Given the description of an element on the screen output the (x, y) to click on. 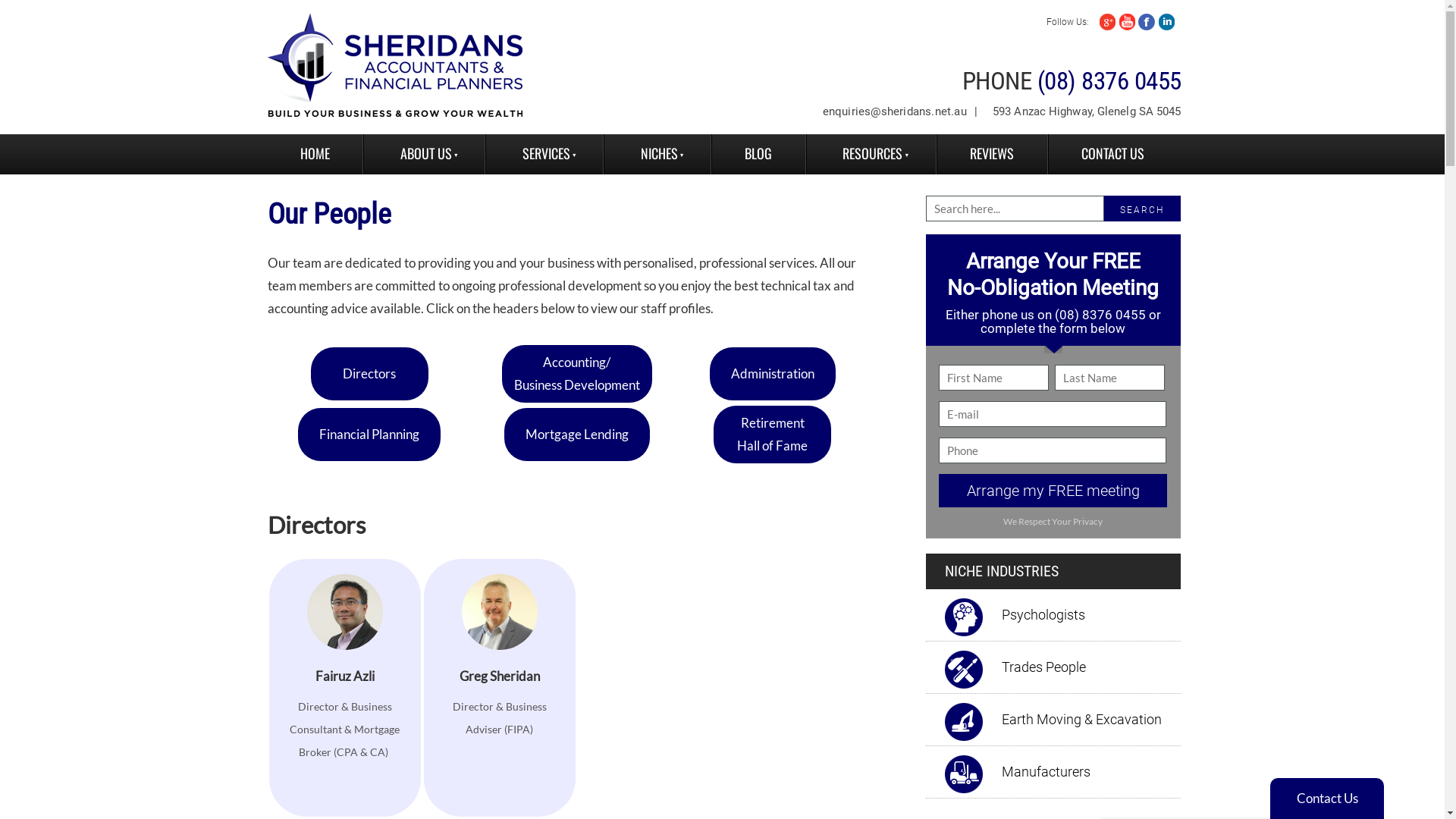
ABOUT US Element type: text (424, 154)
Directors Element type: text (369, 373)
Financial Planning Element type: text (369, 434)
enquiries@sheridans.net.au Element type: text (894, 111)
NICHES Element type: text (657, 154)
Accounting/ Business Development Element type: text (577, 373)
Greg Sheridan
Director & Business Adviser (FIPA) Element type: text (498, 687)
We Respect Your Privacy Element type: text (1052, 521)
SERVICES Element type: text (544, 154)
Arrange my FREE meeting Element type: text (1052, 490)
HOME Element type: text (314, 154)
Retirement Hall of Fame Element type: text (772, 434)
CONTACT US Element type: text (1112, 154)
Earth Moving & Excavation Element type: text (1084, 719)
Manufacturers Element type: text (1049, 771)
Psychologists Element type: text (1046, 614)
RESOURCES Element type: text (870, 154)
SEARCH Element type: text (1141, 212)
REVIEWS Element type: text (992, 154)
Mortgage Lending Element type: text (576, 434)
BLOG Element type: text (758, 154)
Trades People Element type: text (1046, 667)
Administration Element type: text (772, 373)
